Given the description of an element on the screen output the (x, y) to click on. 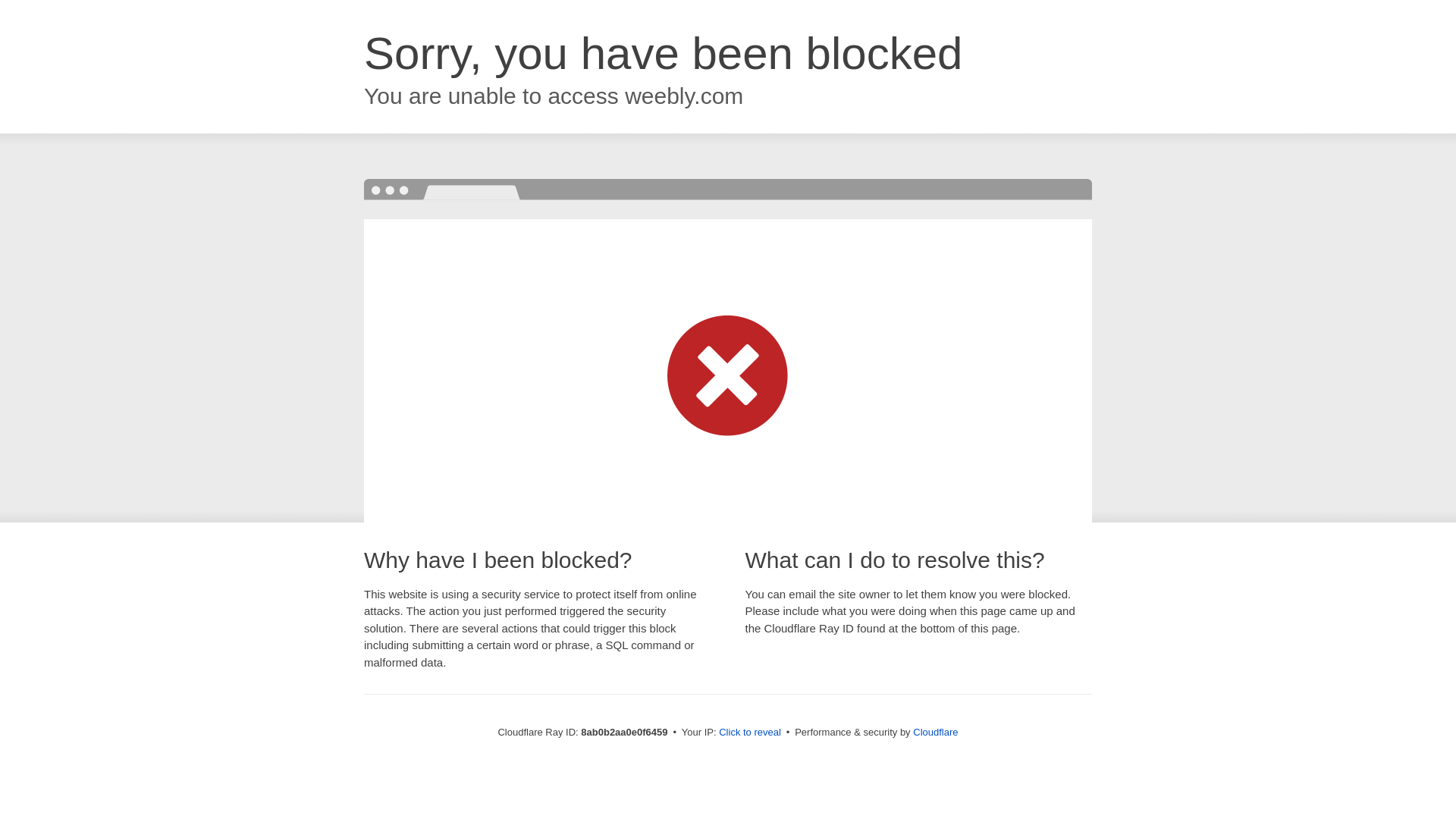
Click to reveal (749, 732)
Cloudflare (935, 731)
